Given the description of an element on the screen output the (x, y) to click on. 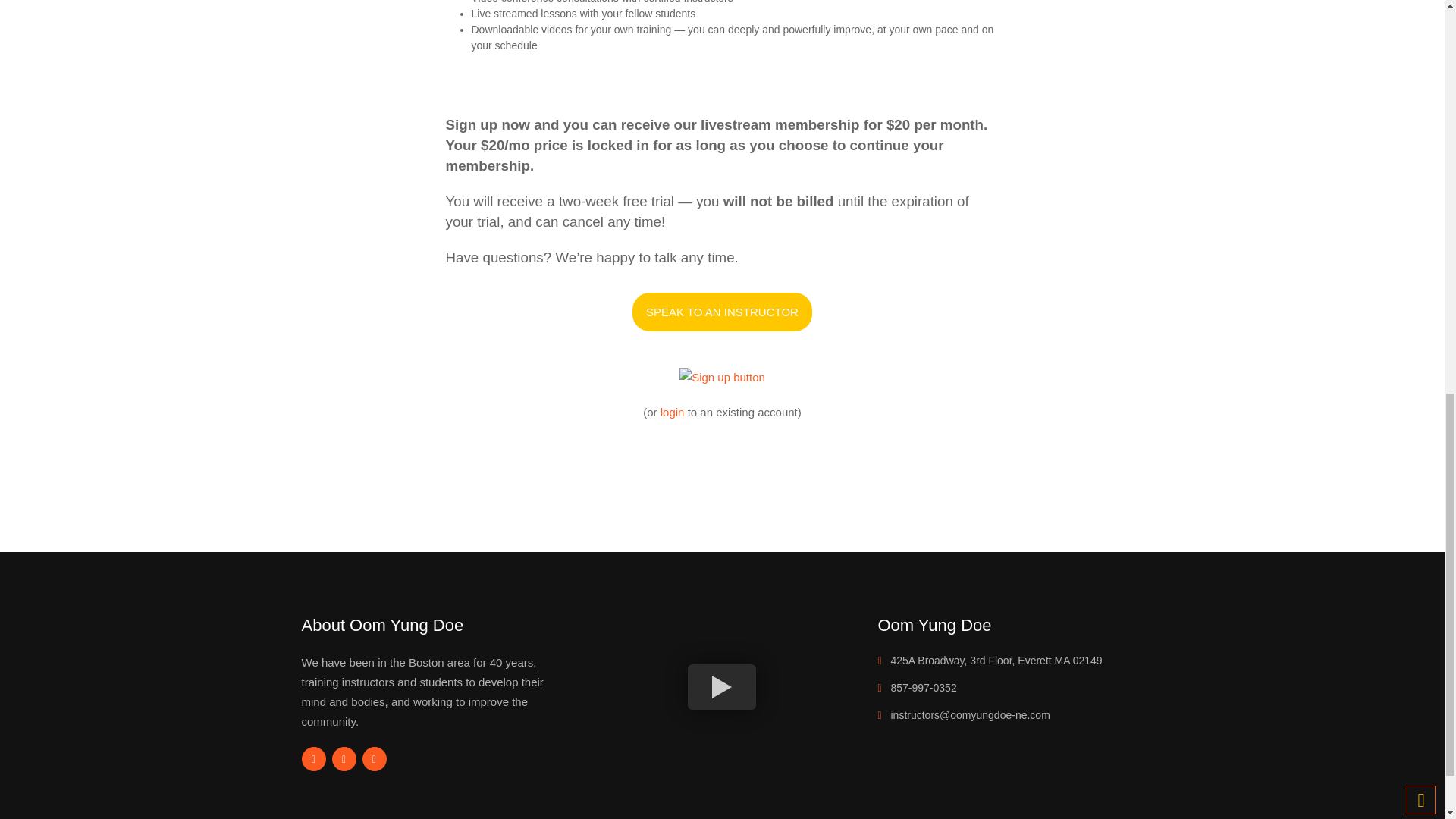
857-997-0352 (922, 687)
login (672, 411)
SPEAK TO AN INSTRUCTOR (721, 311)
